Given the description of an element on the screen output the (x, y) to click on. 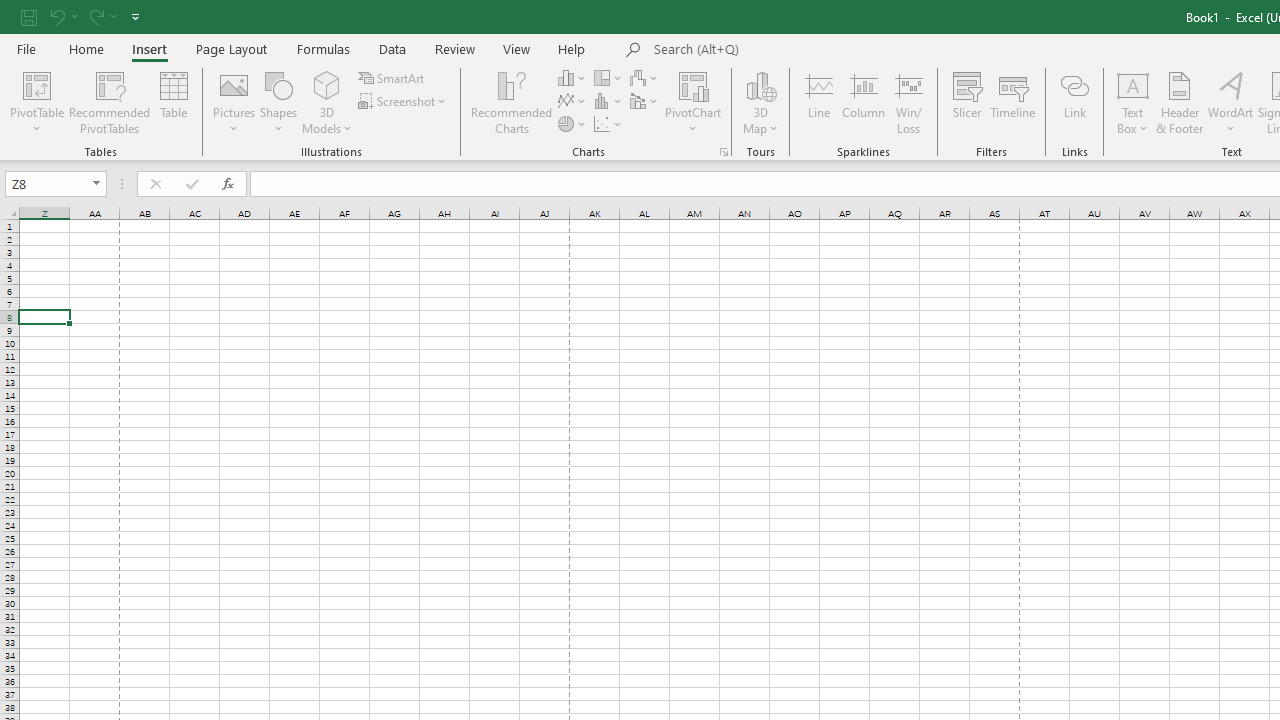
Win/Loss (909, 102)
PivotTable (36, 84)
Header & Footer... (1179, 102)
Timeline (1013, 102)
Pictures (234, 102)
Shapes (278, 102)
Slicer... (966, 102)
WordArt (1230, 102)
3D Models (326, 102)
Column (863, 102)
